Given the description of an element on the screen output the (x, y) to click on. 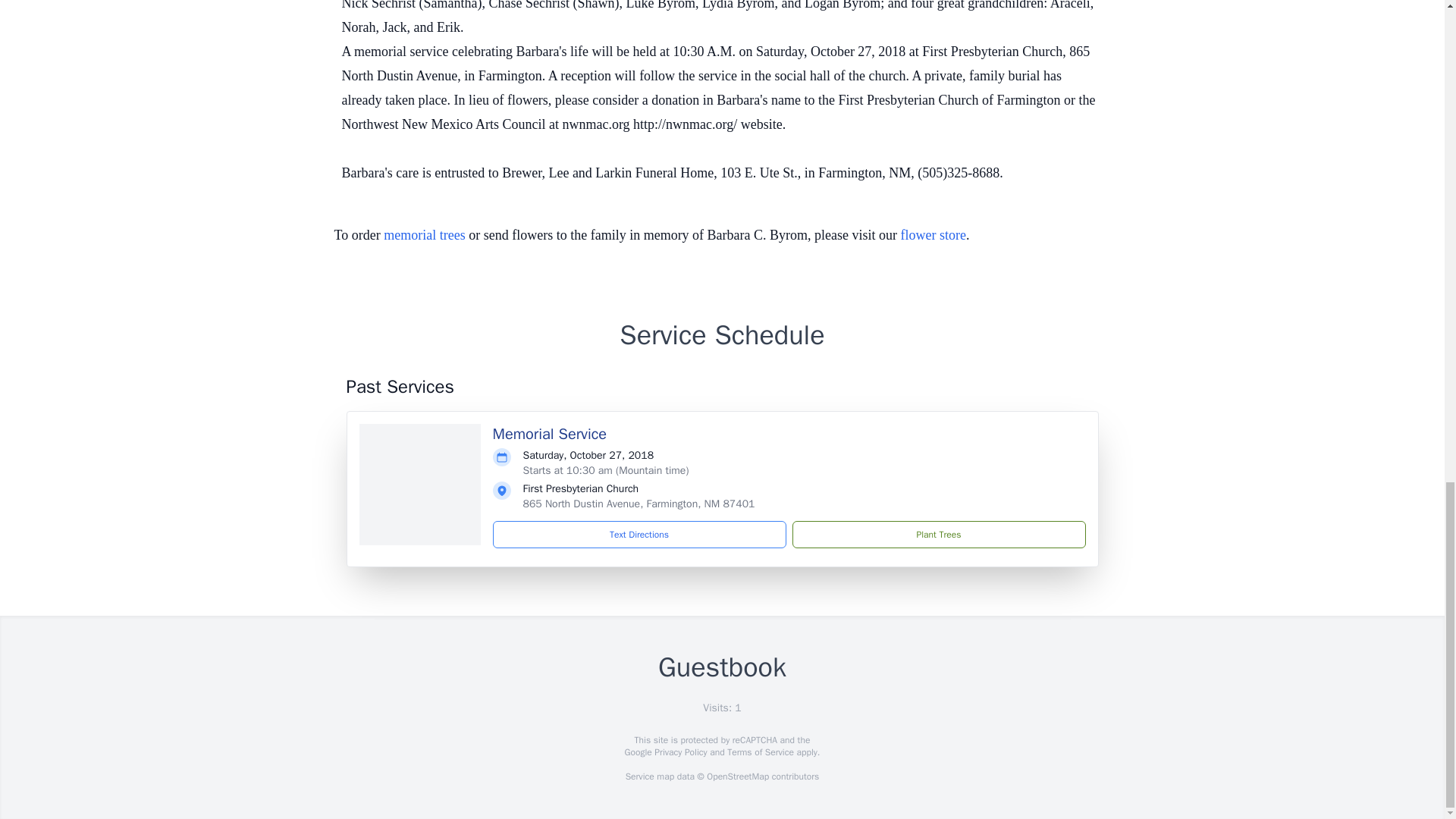
memorial trees (424, 234)
flower store (933, 234)
Text Directions (639, 533)
Terms of Service (759, 752)
Privacy Policy (679, 752)
OpenStreetMap (737, 776)
865 North Dustin Avenue, Farmington, NM 87401 (638, 503)
Plant Trees (938, 533)
